Given the description of an element on the screen output the (x, y) to click on. 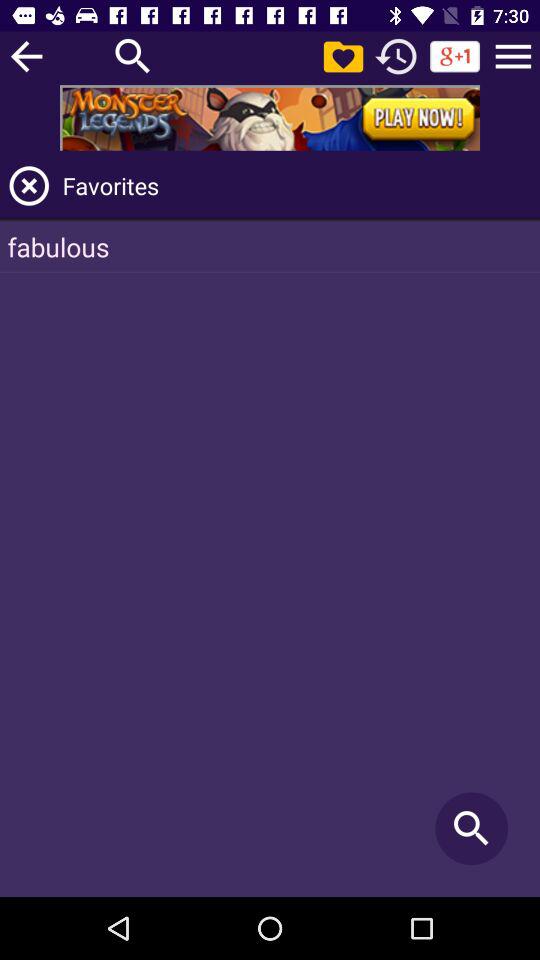
announcement (270, 117)
